Given the description of an element on the screen output the (x, y) to click on. 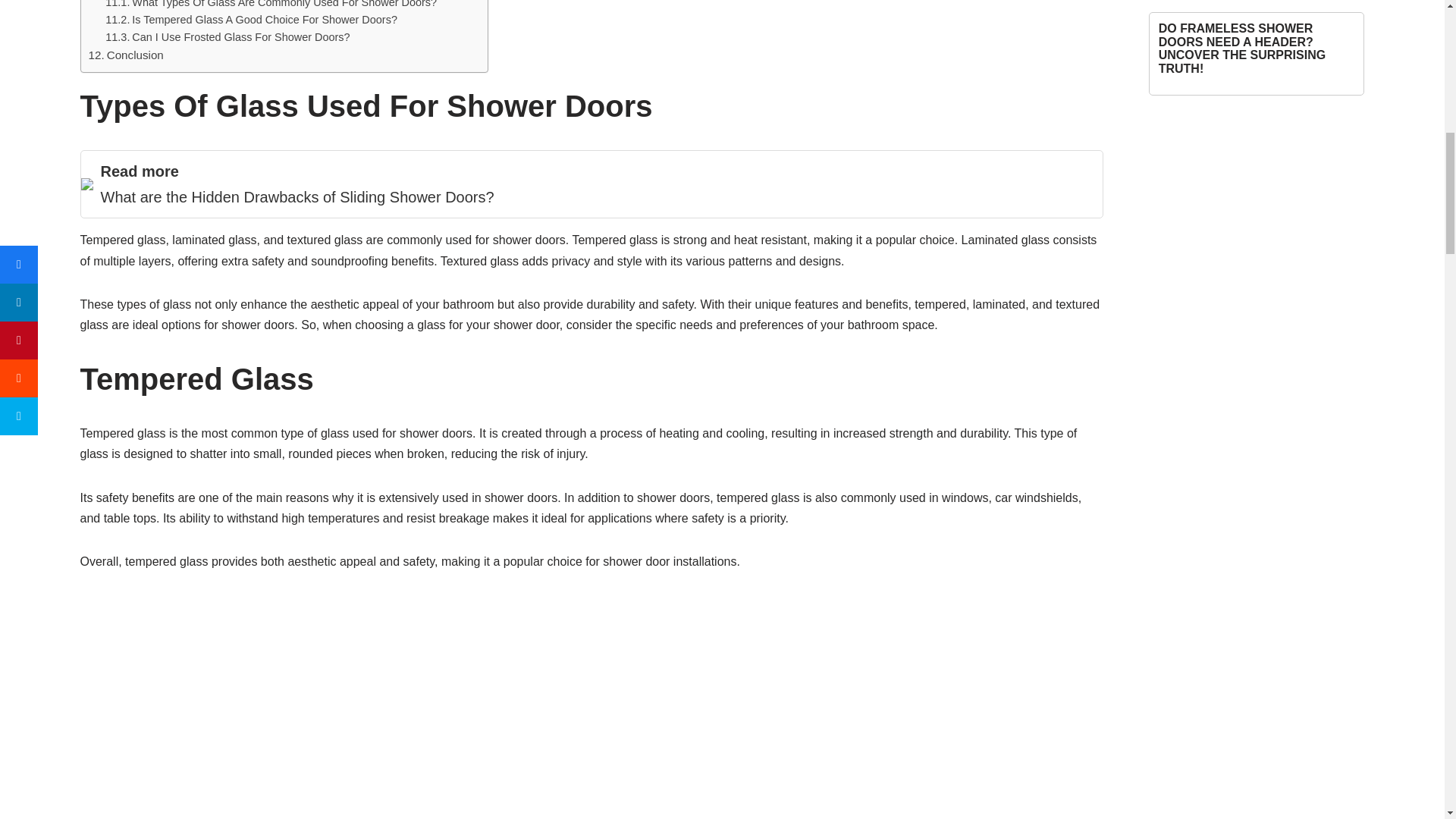
What Types Of Glass Are Commonly Used For Shower Doors? (270, 5)
Can I Use Frosted Glass For Shower Doors? (226, 36)
Is Tempered Glass A Good Choice For Shower Doors? (250, 19)
Conclusion (125, 54)
Is Tempered Glass A Good Choice For Shower Doors? (250, 19)
What Types Of Glass Are Commonly Used For Shower Doors? (270, 5)
